Given the description of an element on the screen output the (x, y) to click on. 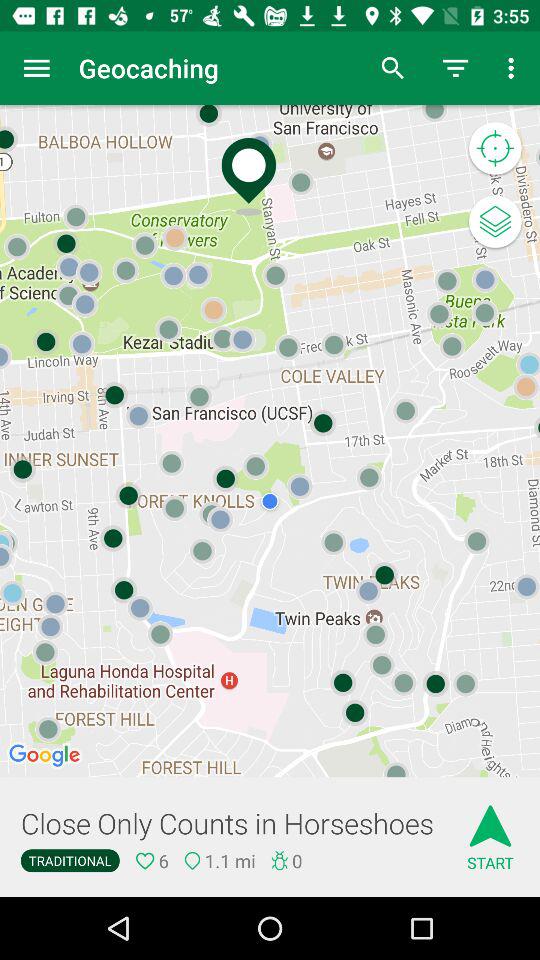
tap the item at the bottom right corner (490, 830)
